Given the description of an element on the screen output the (x, y) to click on. 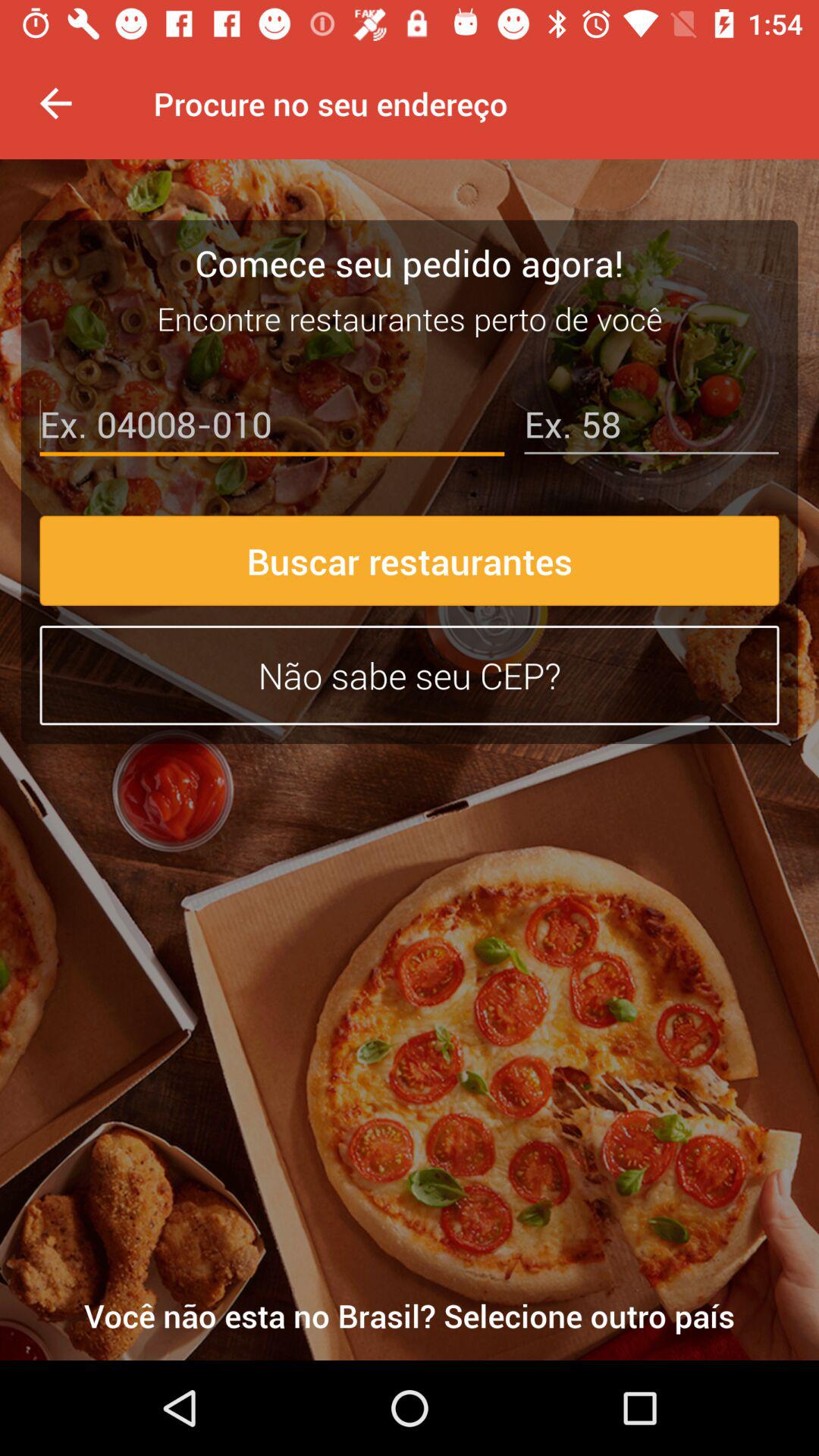
house number (651, 427)
